Given the description of an element on the screen output the (x, y) to click on. 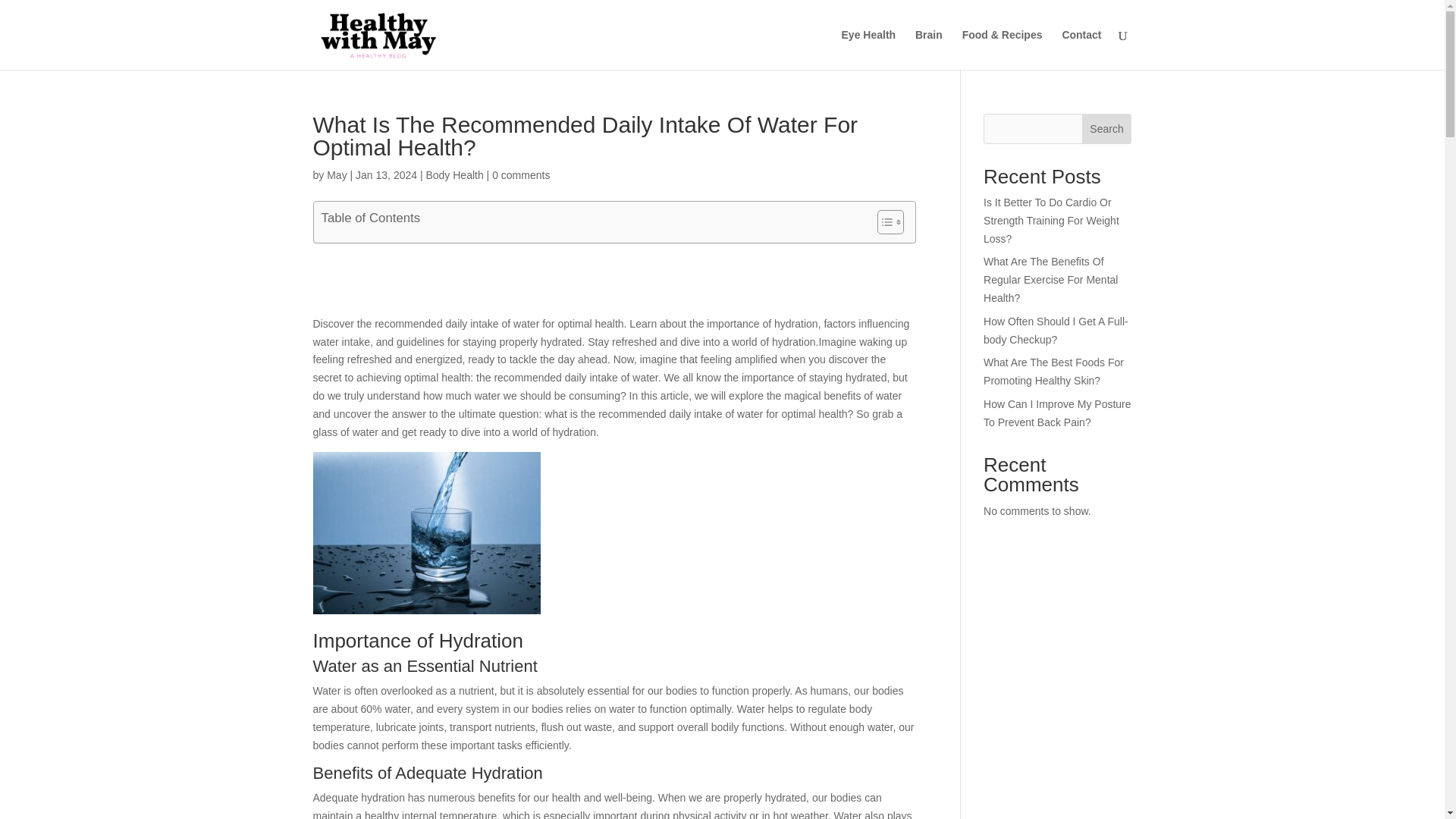
Eye Health (868, 49)
Posts by May (336, 174)
Body Health (454, 174)
Contact (1080, 49)
May (336, 174)
0 comments (521, 174)
